Given the description of an element on the screen output the (x, y) to click on. 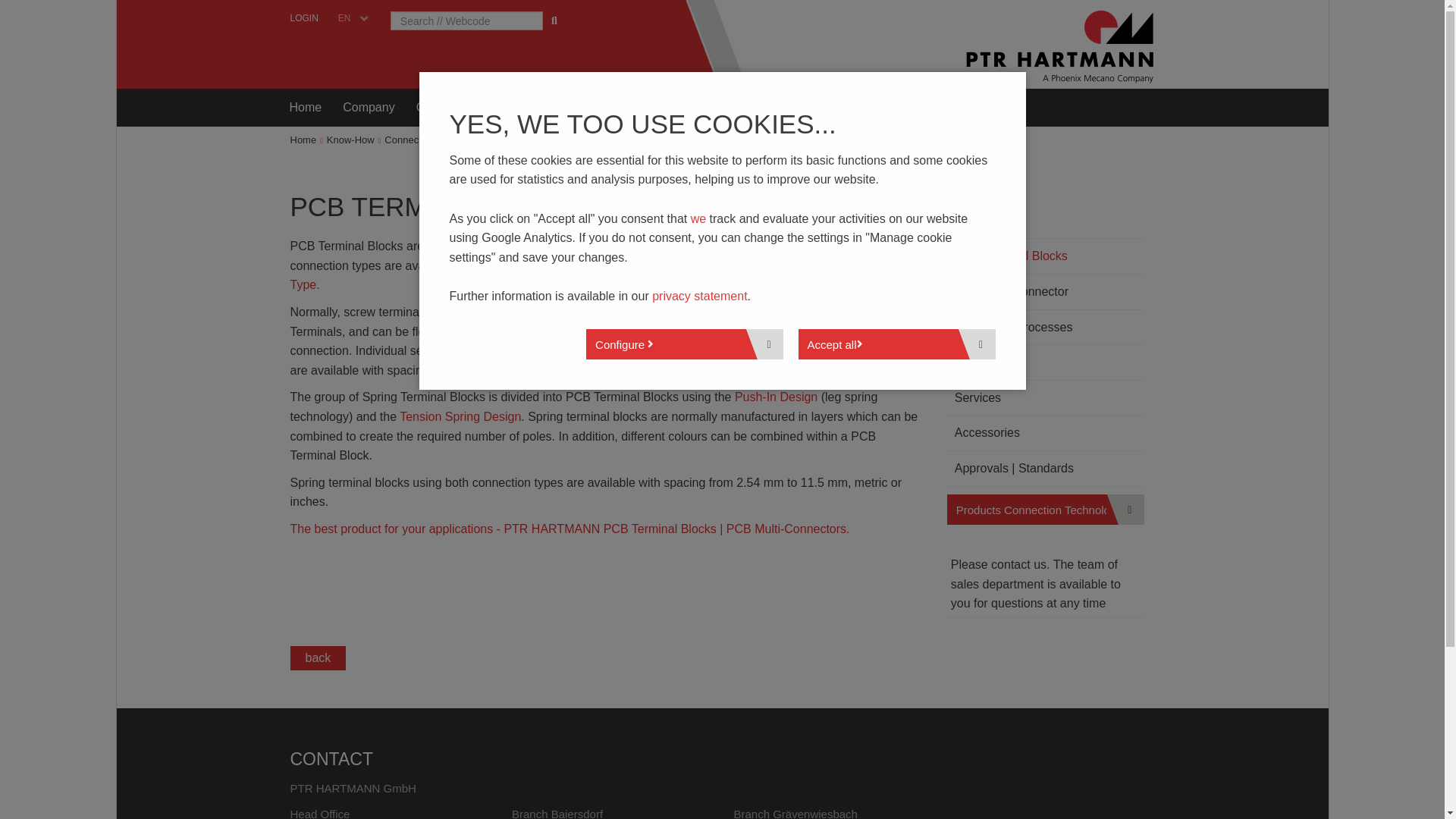
Company (367, 107)
Know-How (659, 107)
Branch (855, 107)
LOGIN (303, 18)
Testing Technology (557, 107)
Connection Technology (435, 139)
Home (306, 107)
PCB Terminal Blocks (543, 139)
Company (367, 107)
Components (451, 107)
